Given the description of an element on the screen output the (x, y) to click on. 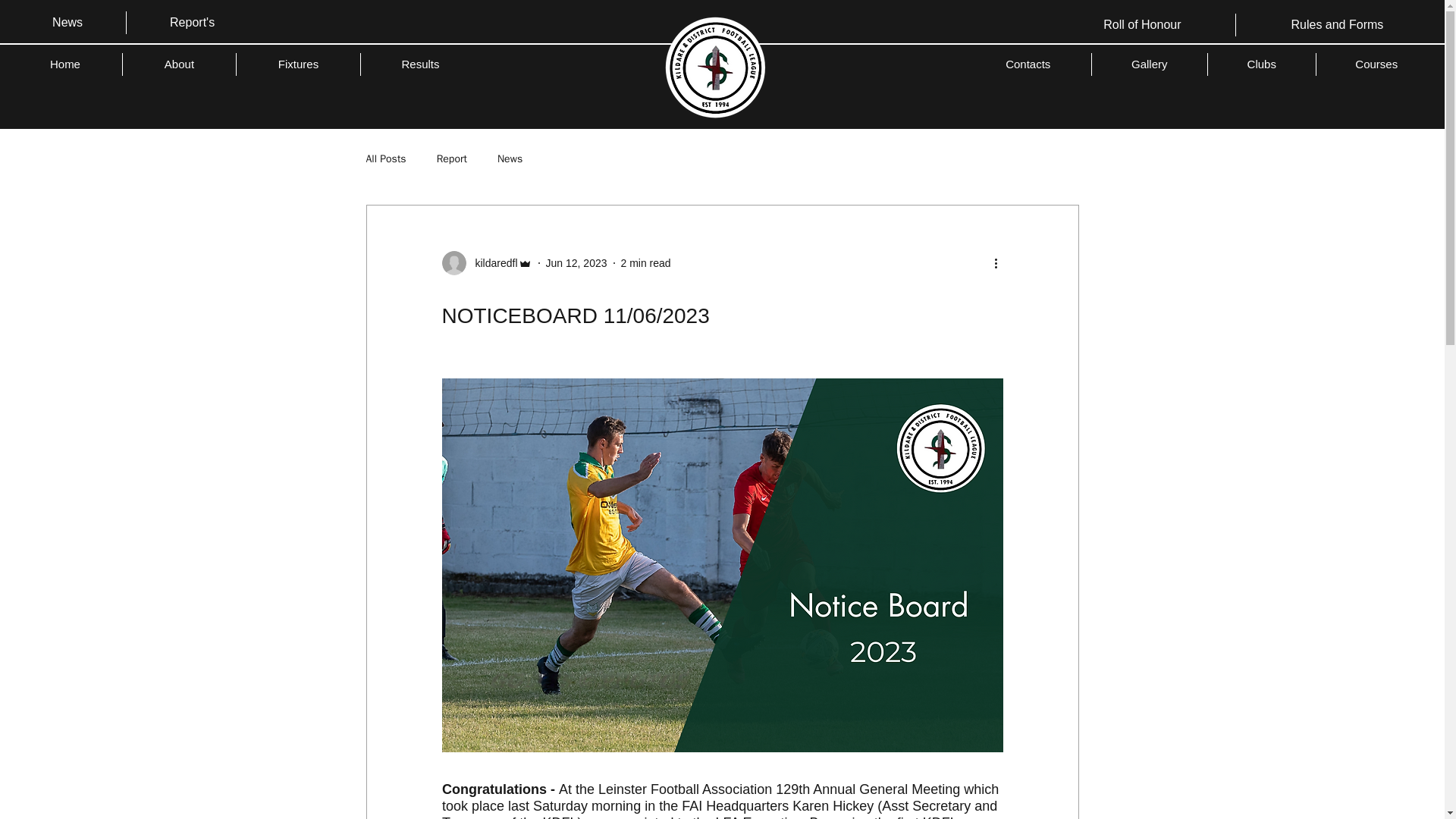
Jun 12, 2023 (576, 263)
Contacts (1027, 64)
kildaredfl (490, 263)
2 min read (644, 263)
Clubs (1262, 64)
Home (65, 64)
Rules and Forms (1337, 24)
Gallery (1149, 64)
Fixtures (297, 64)
Results (420, 64)
Courses (1376, 64)
About (178, 64)
Roll of Honour (1141, 24)
